Given the description of an element on the screen output the (x, y) to click on. 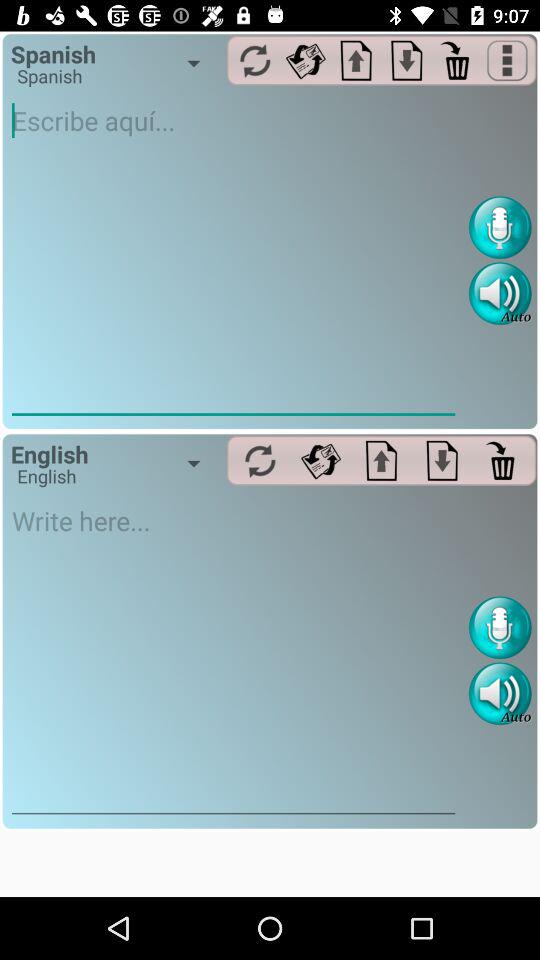
download english translation (442, 460)
